Given the description of an element on the screen output the (x, y) to click on. 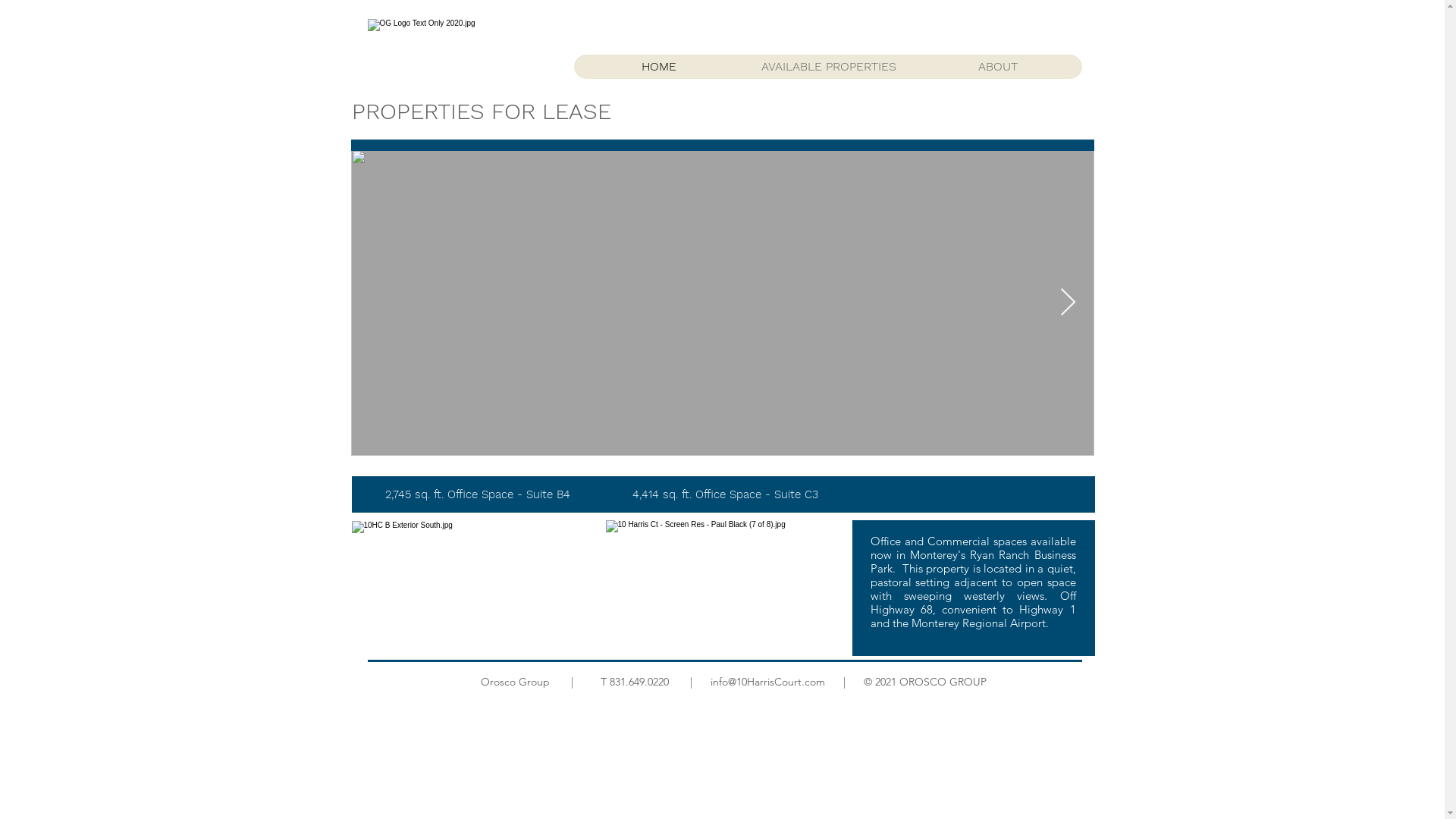
AVAILABLE PROPERTIES Element type: text (827, 66)
ABOUT Element type: text (997, 66)
info@10HarrisCourt.com Element type: text (767, 681)
4,414 sq. ft. Office Space - Suite C3 Element type: text (724, 494)
2,745 sq. ft. Office Space - Suite B4 Element type: text (477, 494)
HOME Element type: text (658, 66)
